Given the description of an element on the screen output the (x, y) to click on. 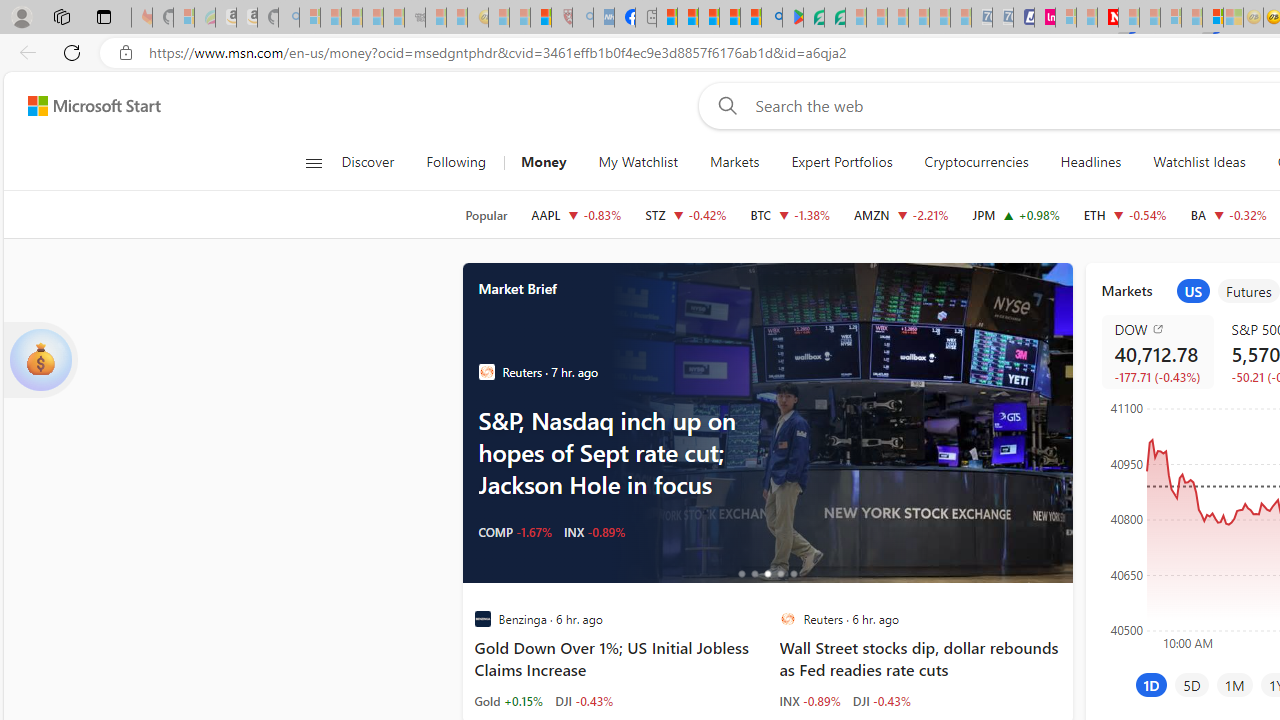
COMP -1.67% (514, 532)
Markets (734, 162)
Cheap Hotels - Save70.com - Sleeping (1002, 17)
Money (543, 162)
Gold +0.15% (508, 700)
Microsoft Word - consumer-privacy address update 2.2021 (834, 17)
Latest Politics News & Archive | Newsweek.com (1107, 17)
